Given the description of an element on the screen output the (x, y) to click on. 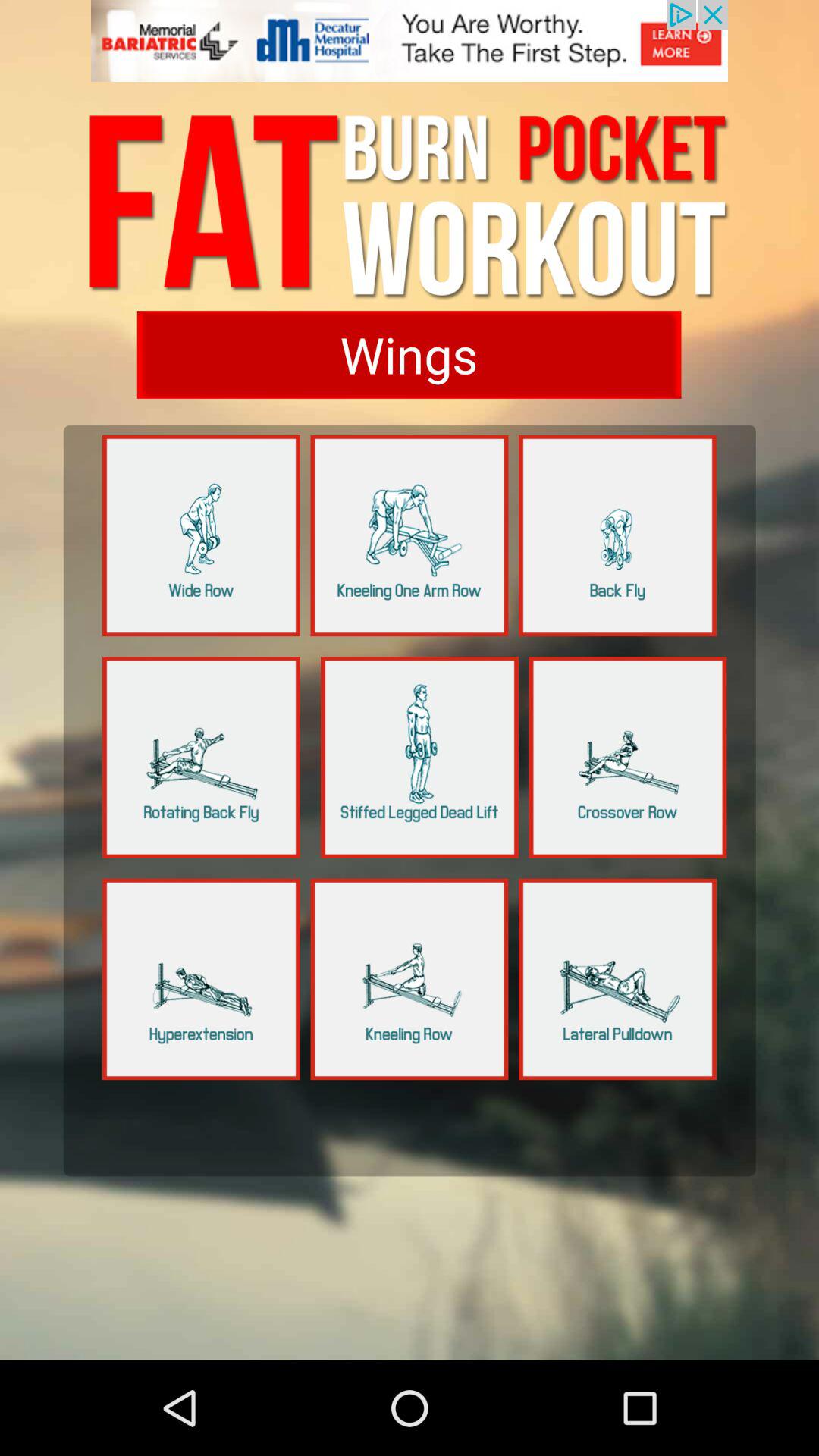
open wings (409, 354)
